Given the description of an element on the screen output the (x, y) to click on. 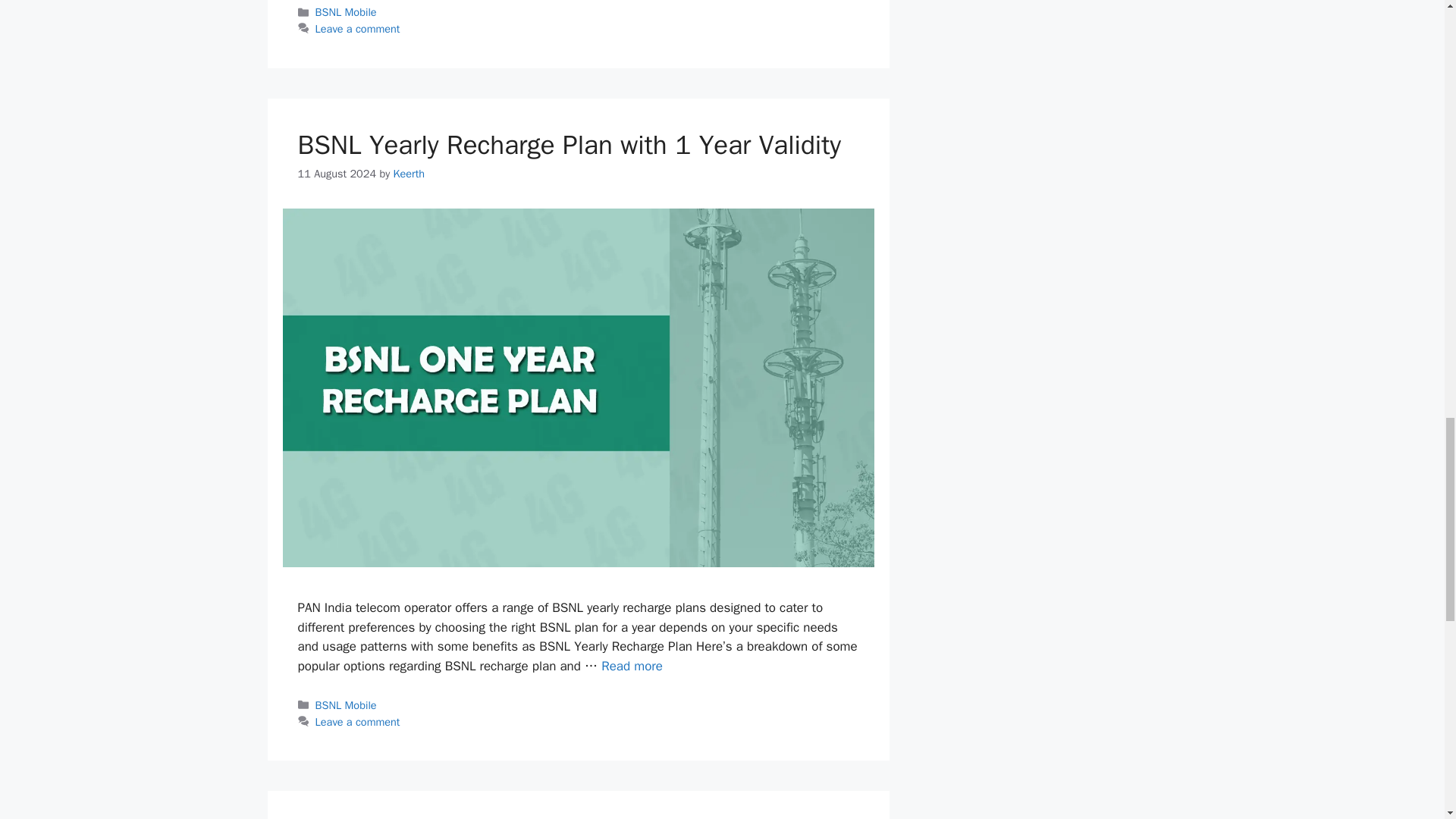
BSNL Mobile (346, 11)
Read more (631, 666)
BSNL Yearly Recharge Plan with 1 Year Validity (569, 144)
View all posts by Keerth (409, 173)
Leave a comment (357, 29)
Leave a comment (357, 721)
BSNL Yearly Recharge Plan with 1 Year Validity (631, 666)
BSNL Mobile (346, 704)
Keerth (409, 173)
